Given the description of an element on the screen output the (x, y) to click on. 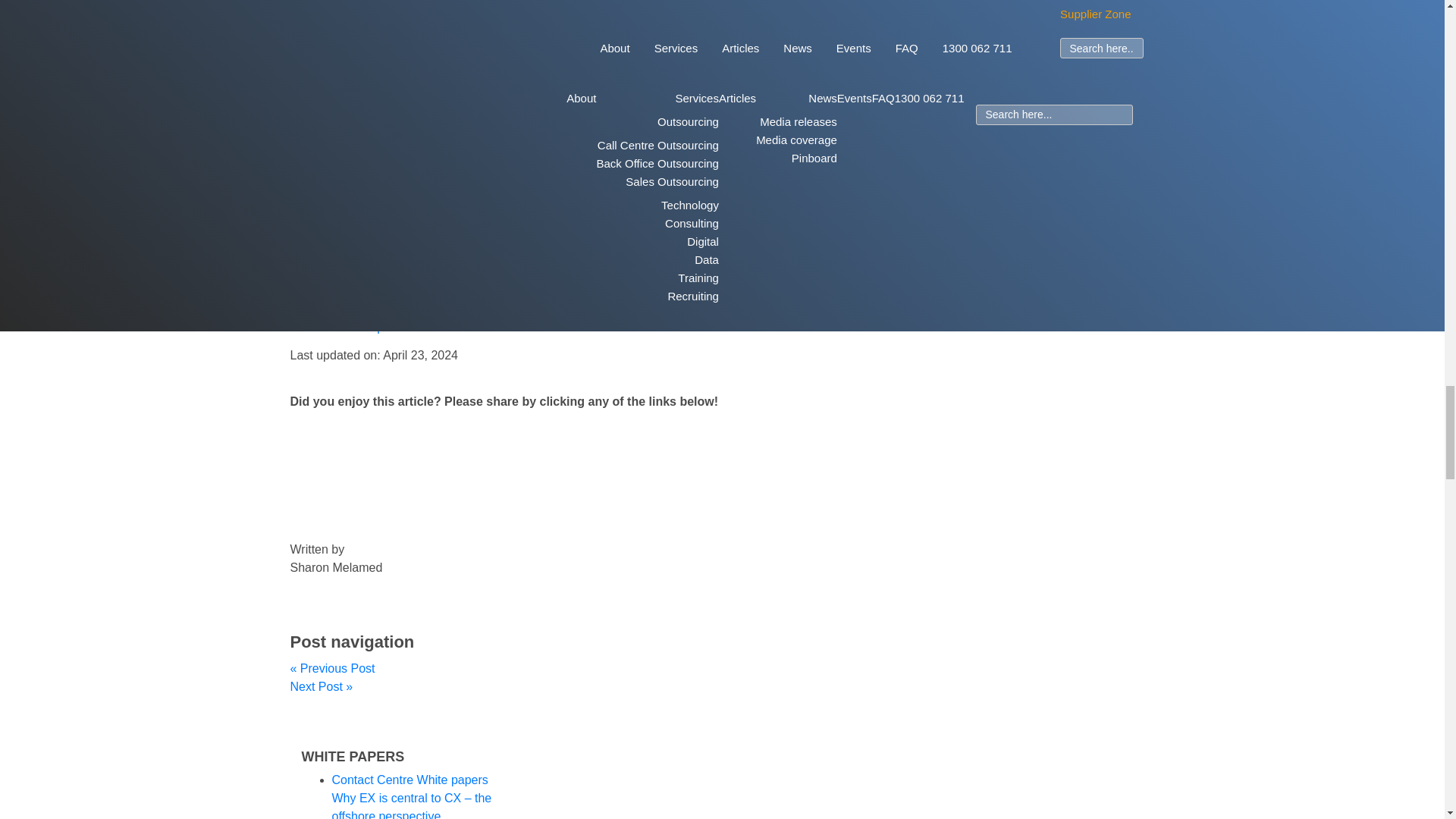
Posts by Sharon Melamed (335, 567)
